Given the description of an element on the screen output the (x, y) to click on. 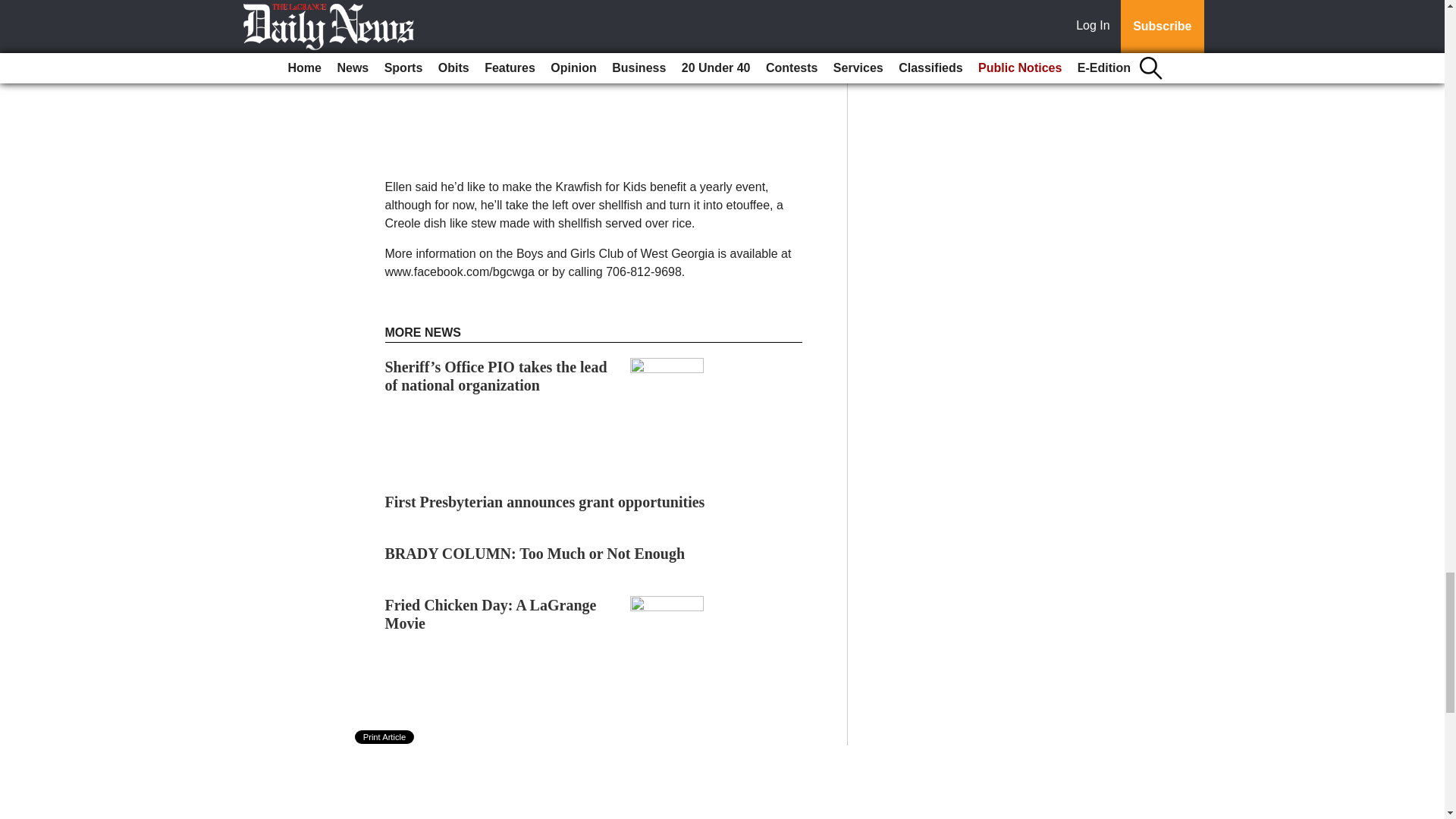
Fried Chicken Day: A LaGrange Movie (490, 614)
Print Article (384, 736)
Fried Chicken Day: A LaGrange Movie (490, 614)
First Presbyterian announces grant opportunities (544, 501)
BRADY COLUMN: Too Much or Not Enough (535, 553)
BRADY COLUMN: Too Much or Not Enough (535, 553)
First Presbyterian announces grant opportunities (544, 501)
